Given the description of an element on the screen output the (x, y) to click on. 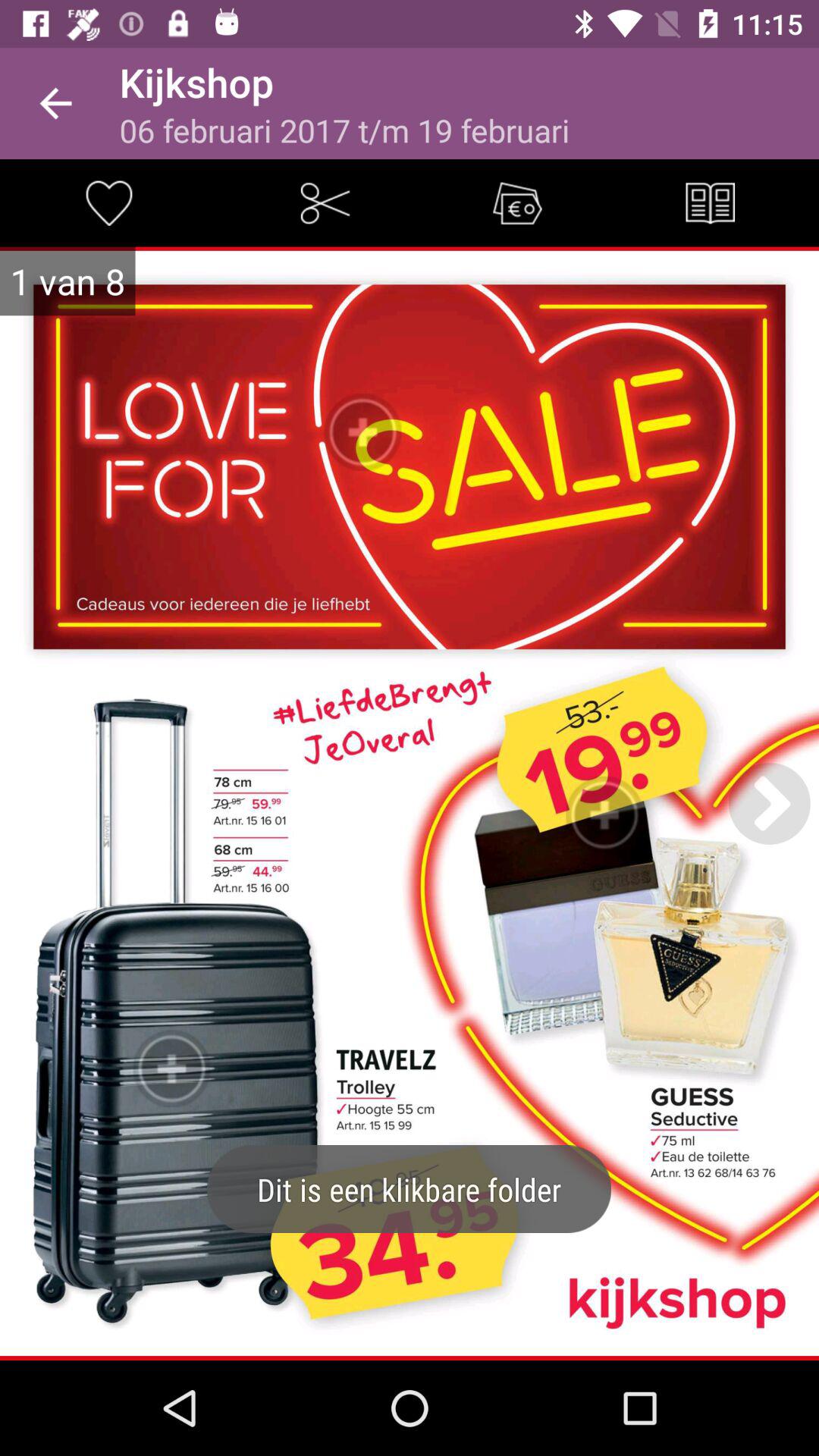
check the overall menu (710, 202)
